Given the description of an element on the screen output the (x, y) to click on. 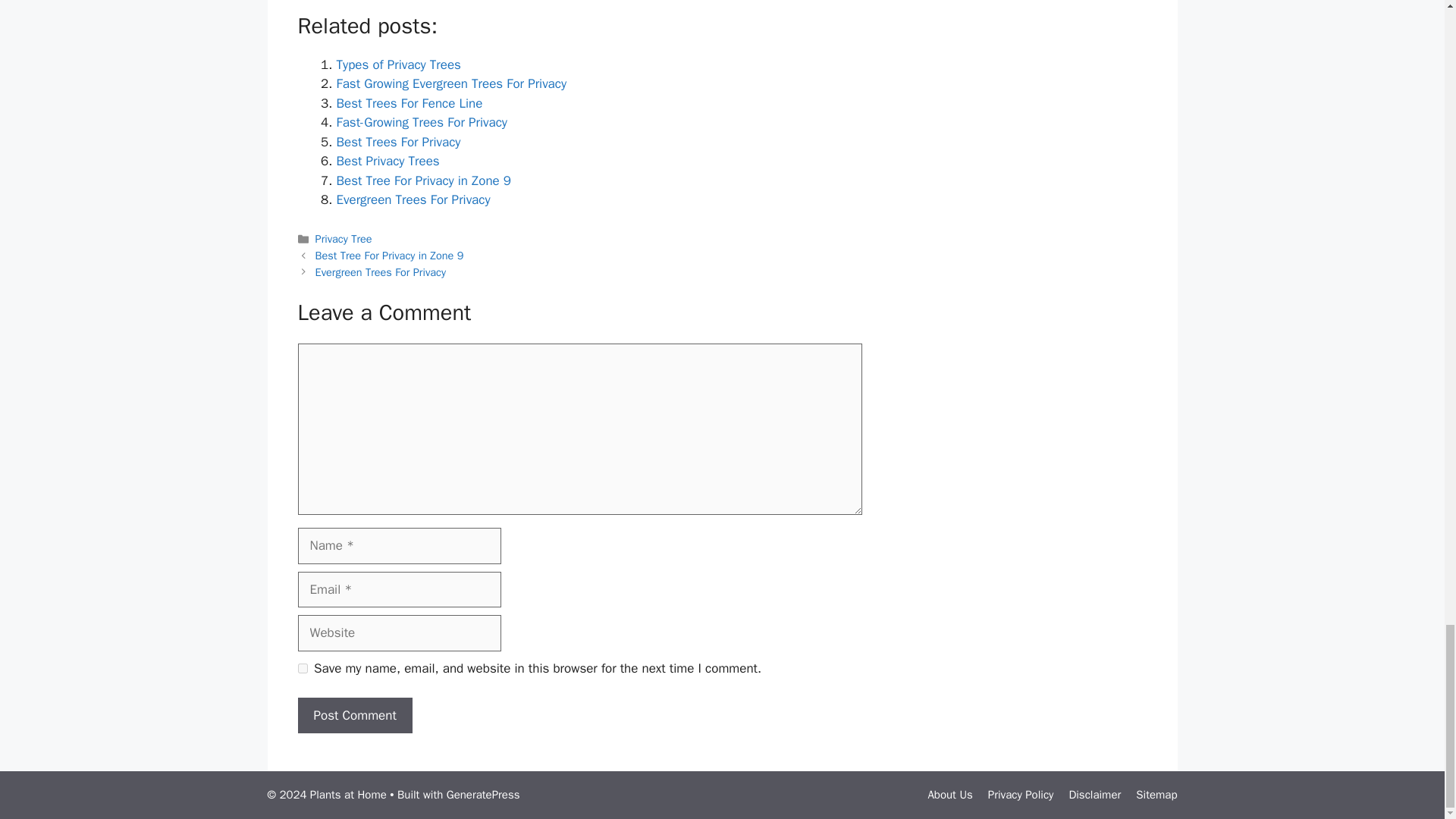
Fast-Growing Trees For Privacy (421, 122)
Post Comment (354, 715)
Best Privacy Trees (387, 160)
Post Comment (354, 715)
Evergreen Trees For Privacy (413, 199)
Best Tree For Privacy in Zone 9 (389, 255)
Best Tree For Privacy in Zone 9 (424, 180)
Fast-Growing Trees For Privacy (421, 122)
Best Privacy Trees (387, 160)
Types of Privacy Trees (398, 64)
